Given the description of an element on the screen output the (x, y) to click on. 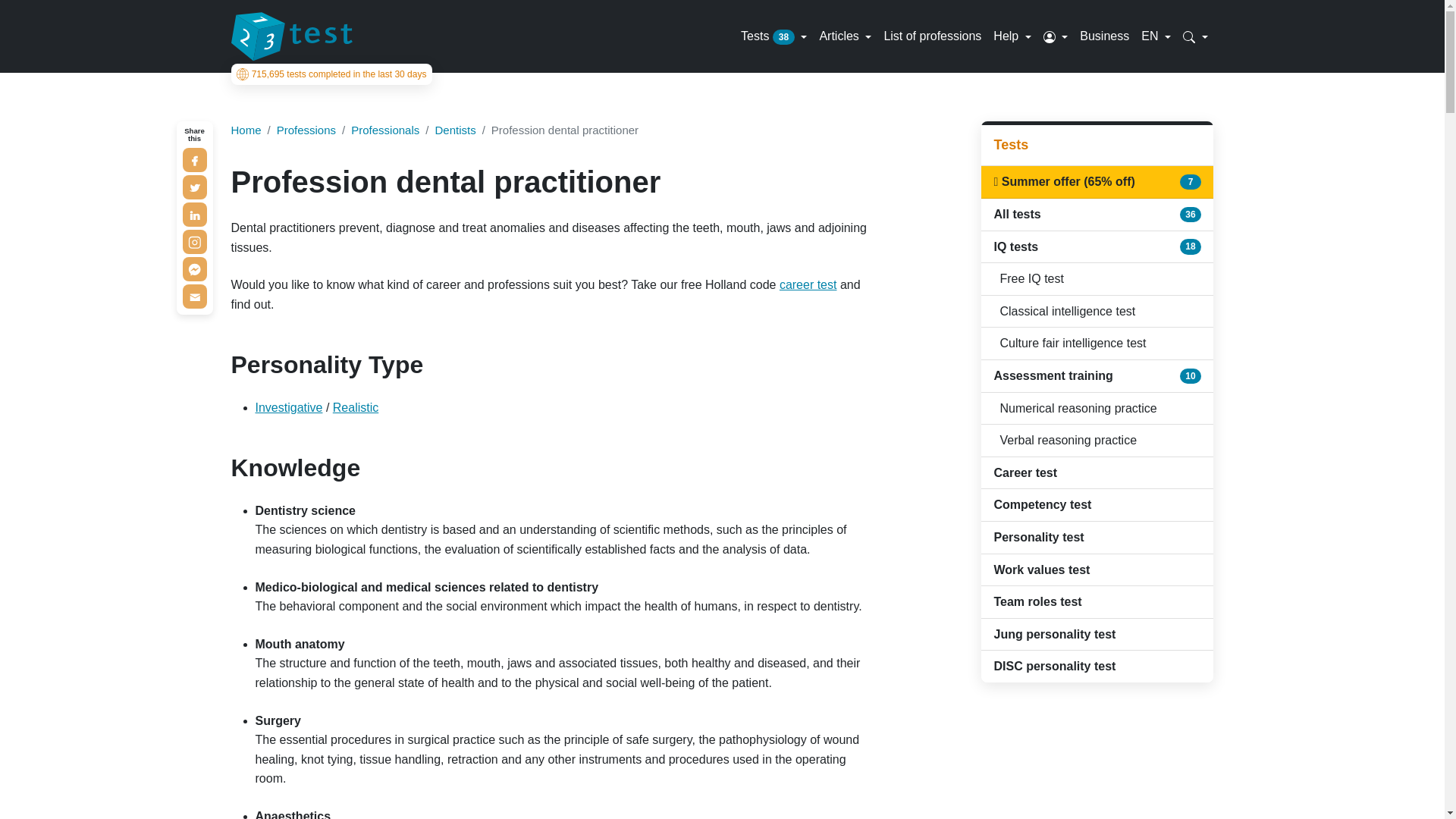
Articles (844, 36)
Share on Twitter (194, 187)
715,695 tests completed in the last 30 days (331, 74)
Career test (807, 284)
Share on Facebook (194, 159)
Tests 38 (773, 36)
List of professions (932, 36)
Instagram (194, 241)
Share on Facebook messenger (194, 269)
Help (1011, 36)
